Given the description of an element on the screen output the (x, y) to click on. 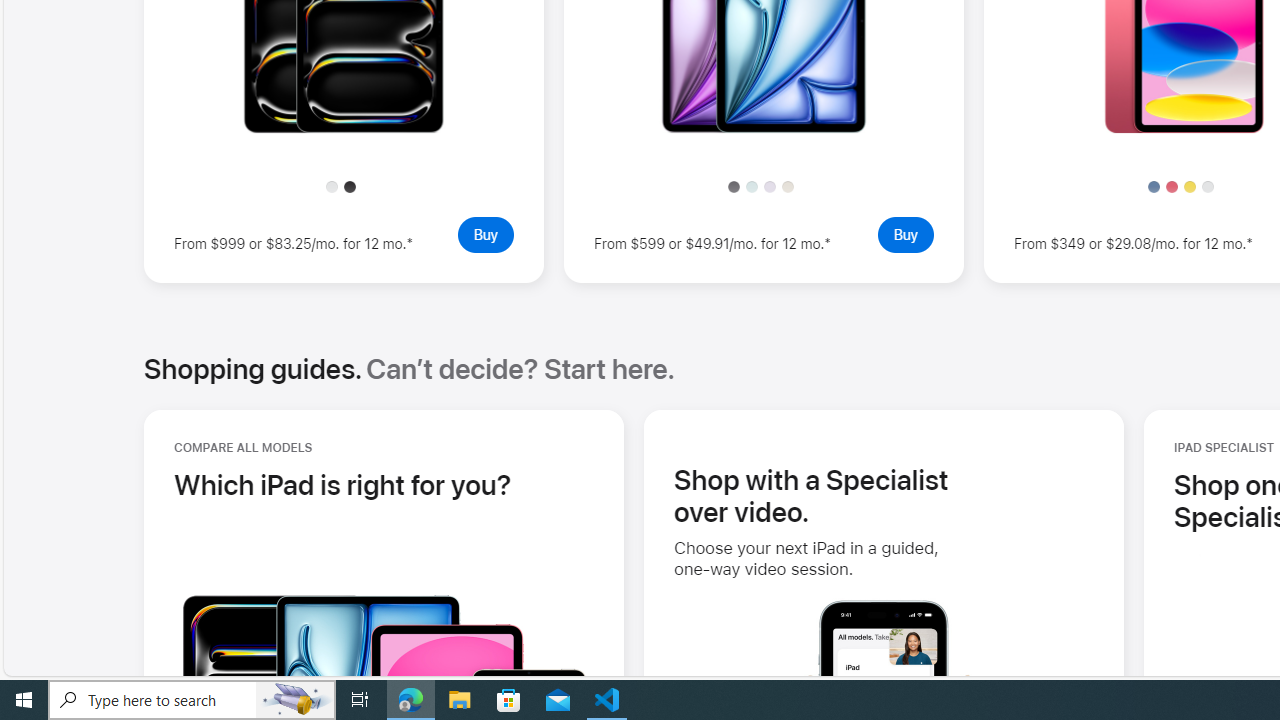
Take a closer look - iPad (1183, 128)
Which iPad is right for you? - (Opens in a new window) (343, 484)
Silver (1207, 186)
Blue (1153, 186)
Yellow (1189, 186)
Starlight (787, 186)
Yellow (1189, 186)
Buy - iPad Pro  (485, 234)
